Given the description of an element on the screen output the (x, y) to click on. 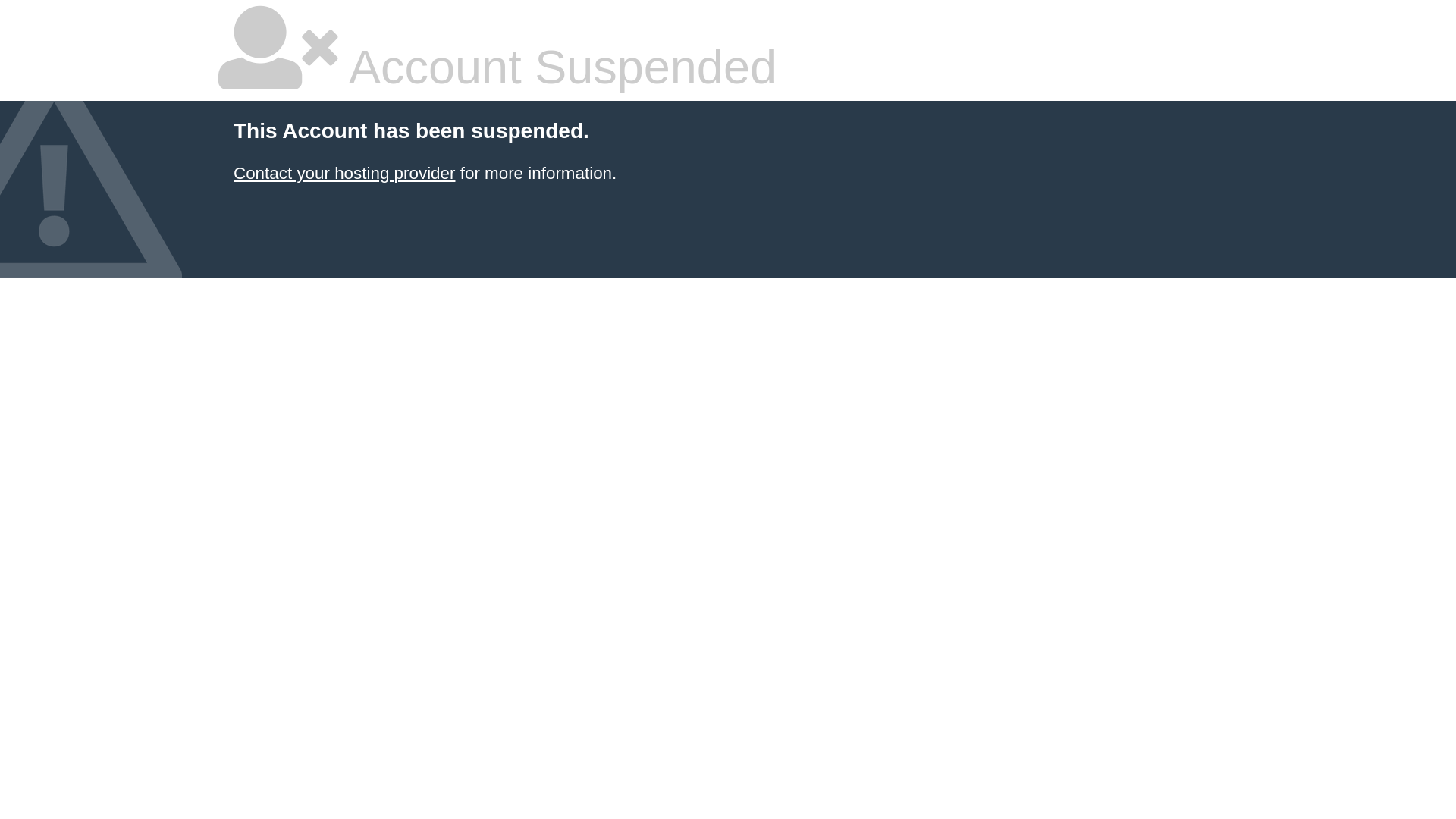
Contact your hosting provider Element type: text (344, 172)
